Given the description of an element on the screen output the (x, y) to click on. 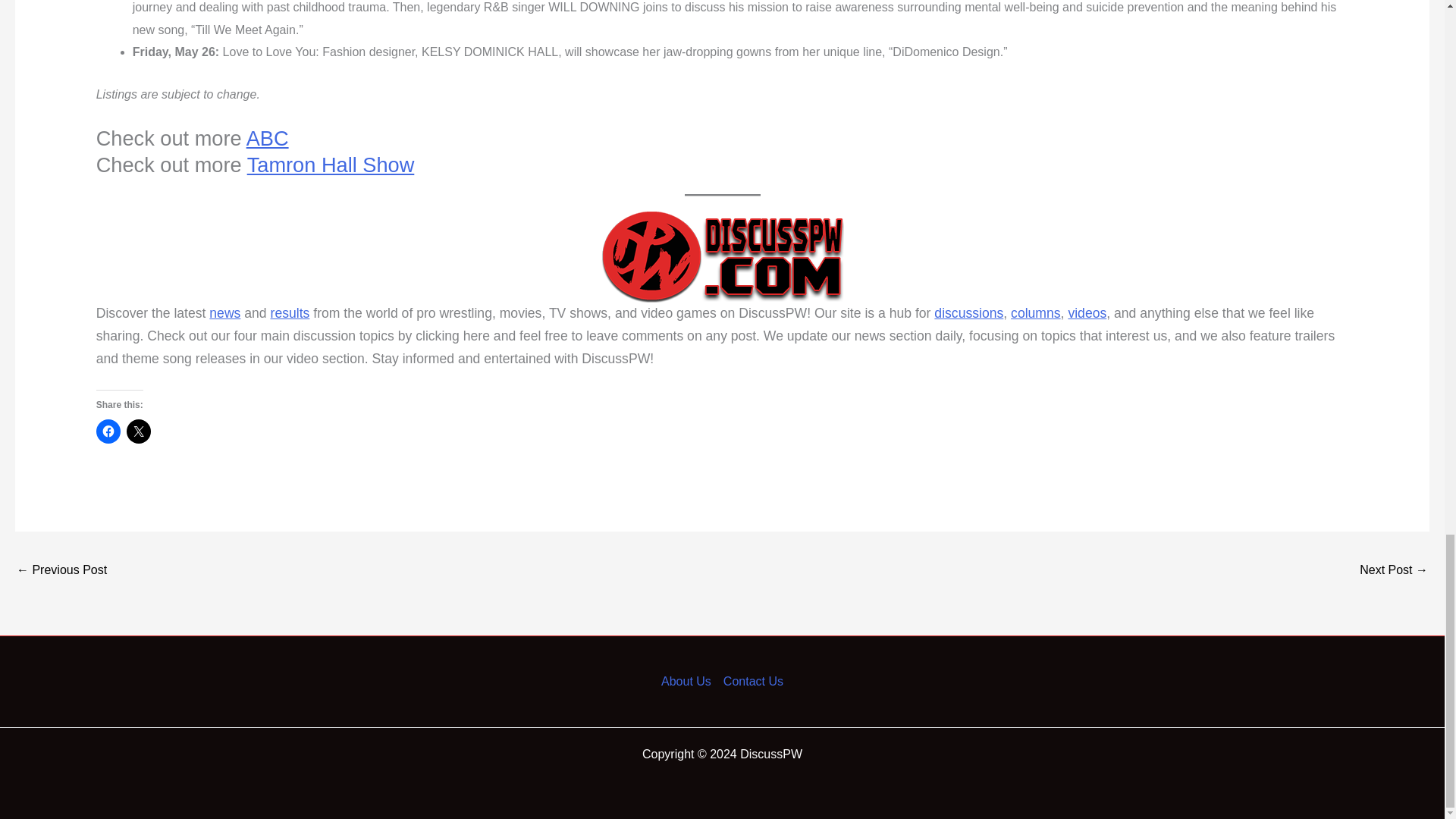
ABC (267, 137)
Click to share on Facebook (108, 431)
news (224, 313)
videos (1086, 313)
discussions (968, 313)
columns (1035, 313)
Tamron Hall Show (330, 164)
results (290, 313)
Click to share on X (138, 431)
